Given the description of an element on the screen output the (x, y) to click on. 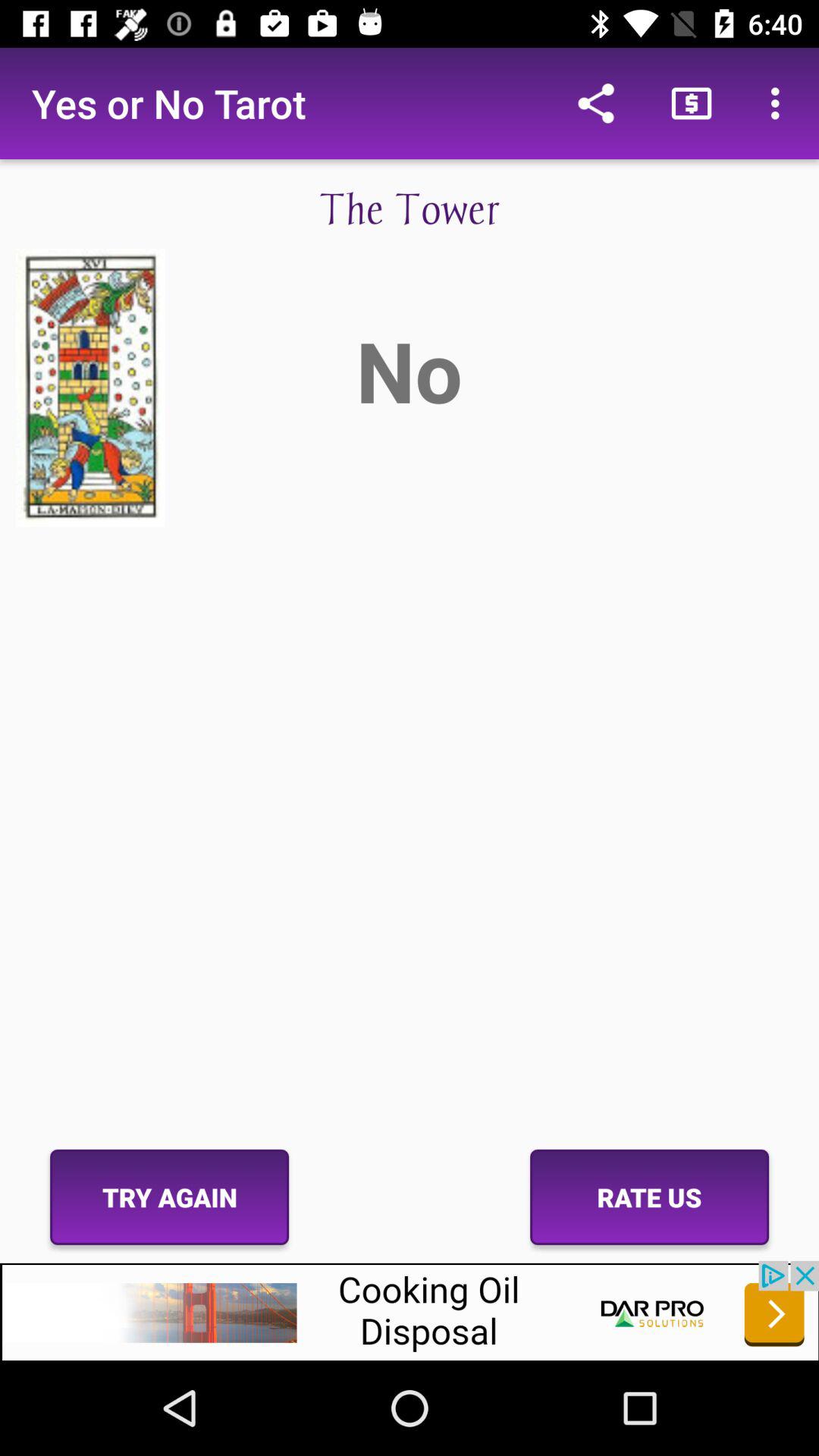
go to external advertisement (409, 1310)
